Given the description of an element on the screen output the (x, y) to click on. 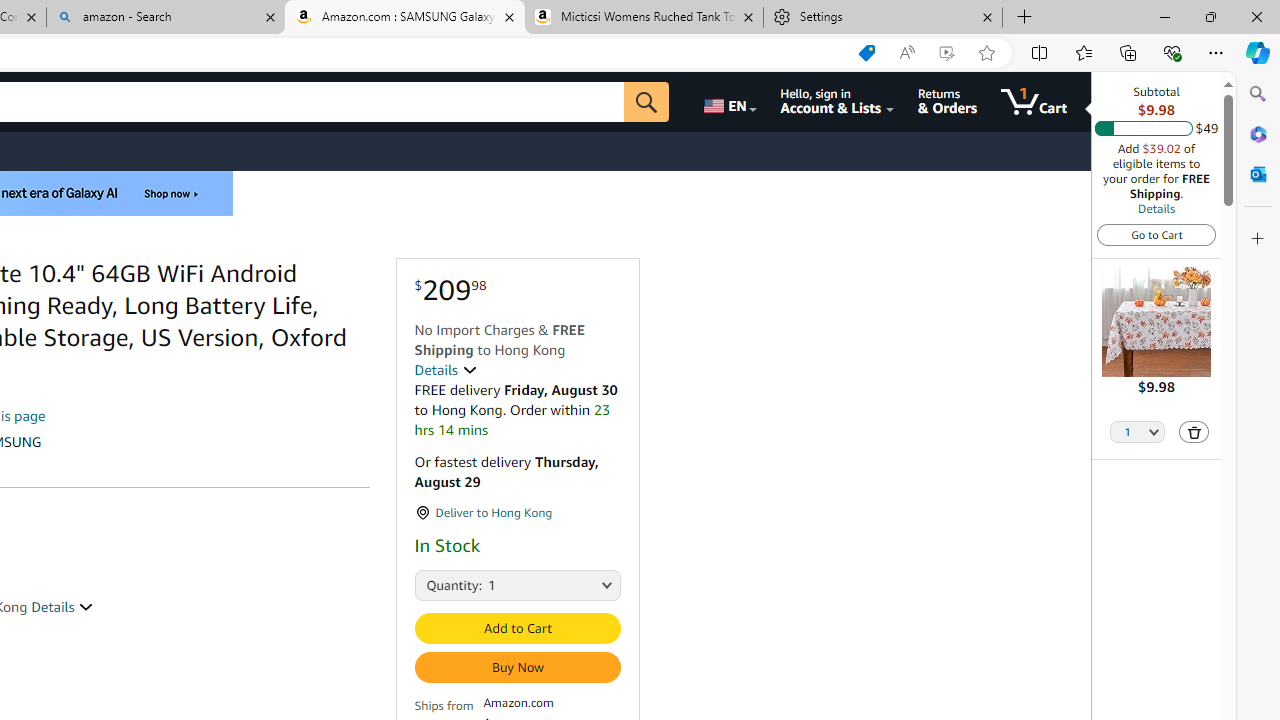
Details  (62, 606)
Enhance video (946, 53)
Buy Now (516, 667)
1 item in cart (1034, 101)
